Given the description of an element on the screen output the (x, y) to click on. 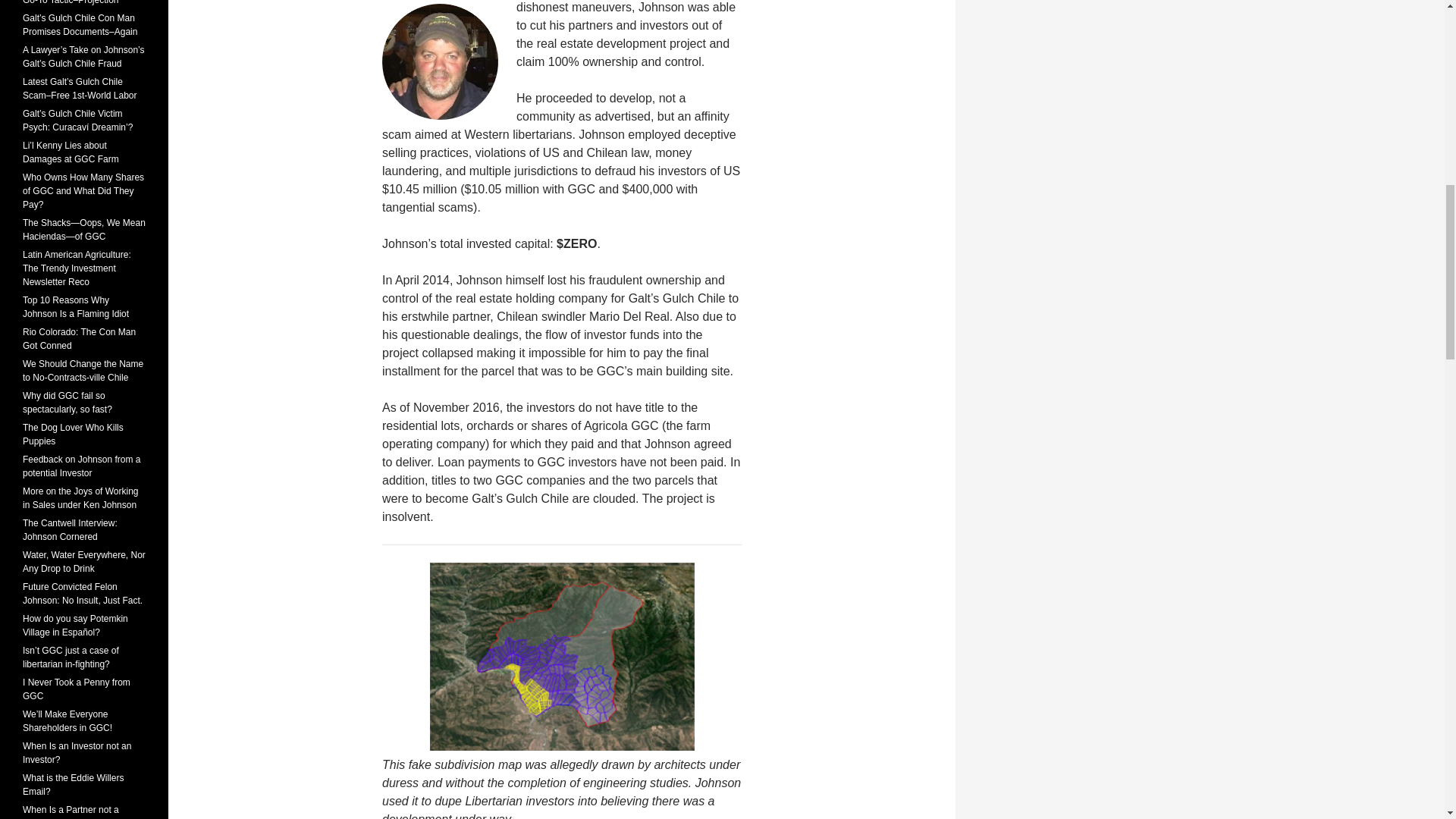
Top 10 Reasons Why Johnson Is a Flaming Idiot (76, 306)
Rio Colorado: The Con Man Got Conned (79, 338)
Who Owns How Many Shares of GGC and What Did They Pay? (83, 190)
We Should Change the Name to No-Contracts-ville Chile (82, 370)
